Given the description of an element on the screen output the (x, y) to click on. 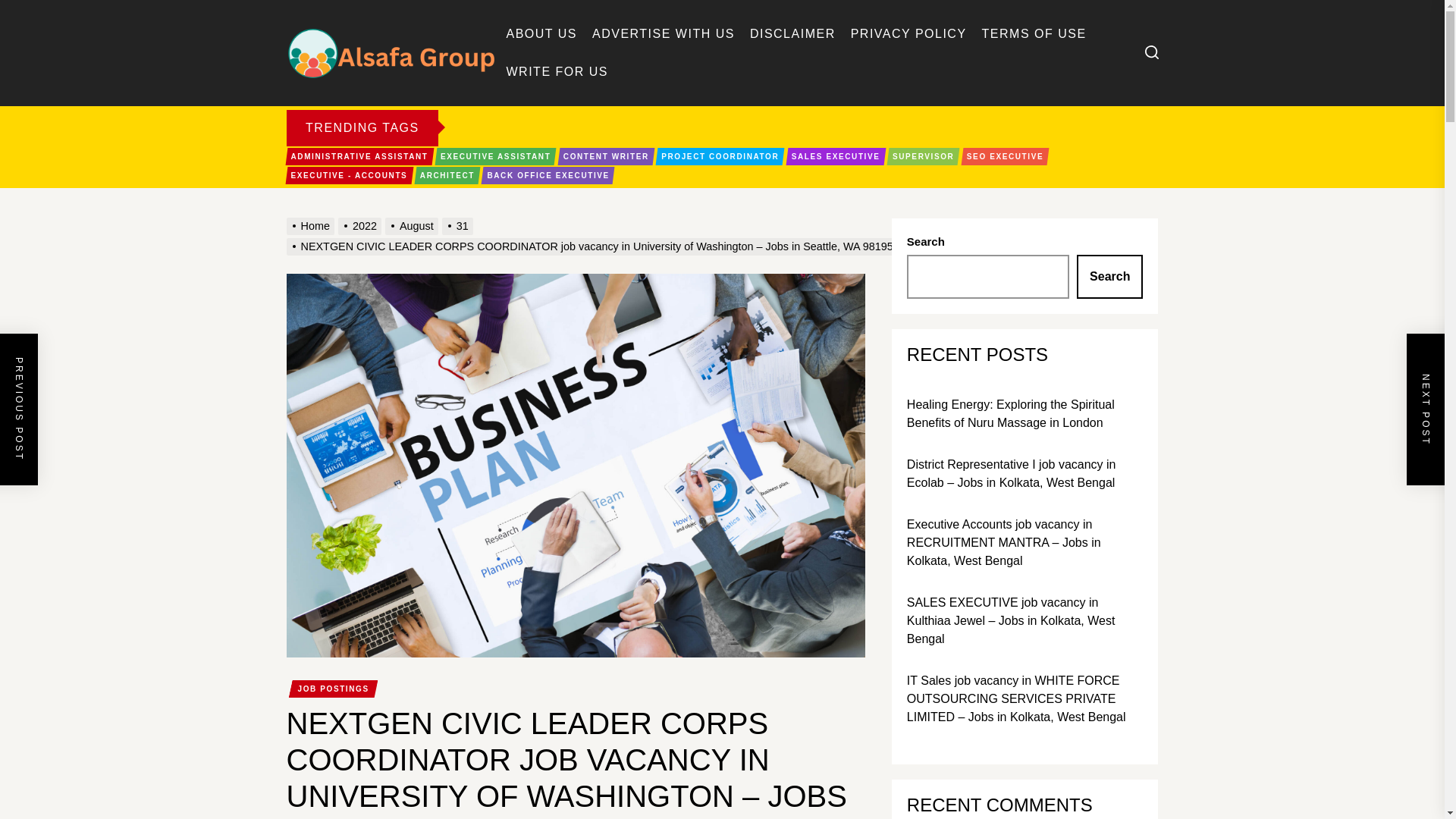
BACK OFFICE EXECUTIVE (546, 175)
JOB POSTINGS (333, 688)
ADVERTISE WITH US (663, 33)
WRITE FOR US (557, 71)
ARCHITECT (446, 175)
August (413, 225)
SUPERVISOR (923, 156)
DISCLAIMER (792, 33)
Home (311, 225)
SALES EXECUTIVE (836, 156)
